Given the description of an element on the screen output the (x, y) to click on. 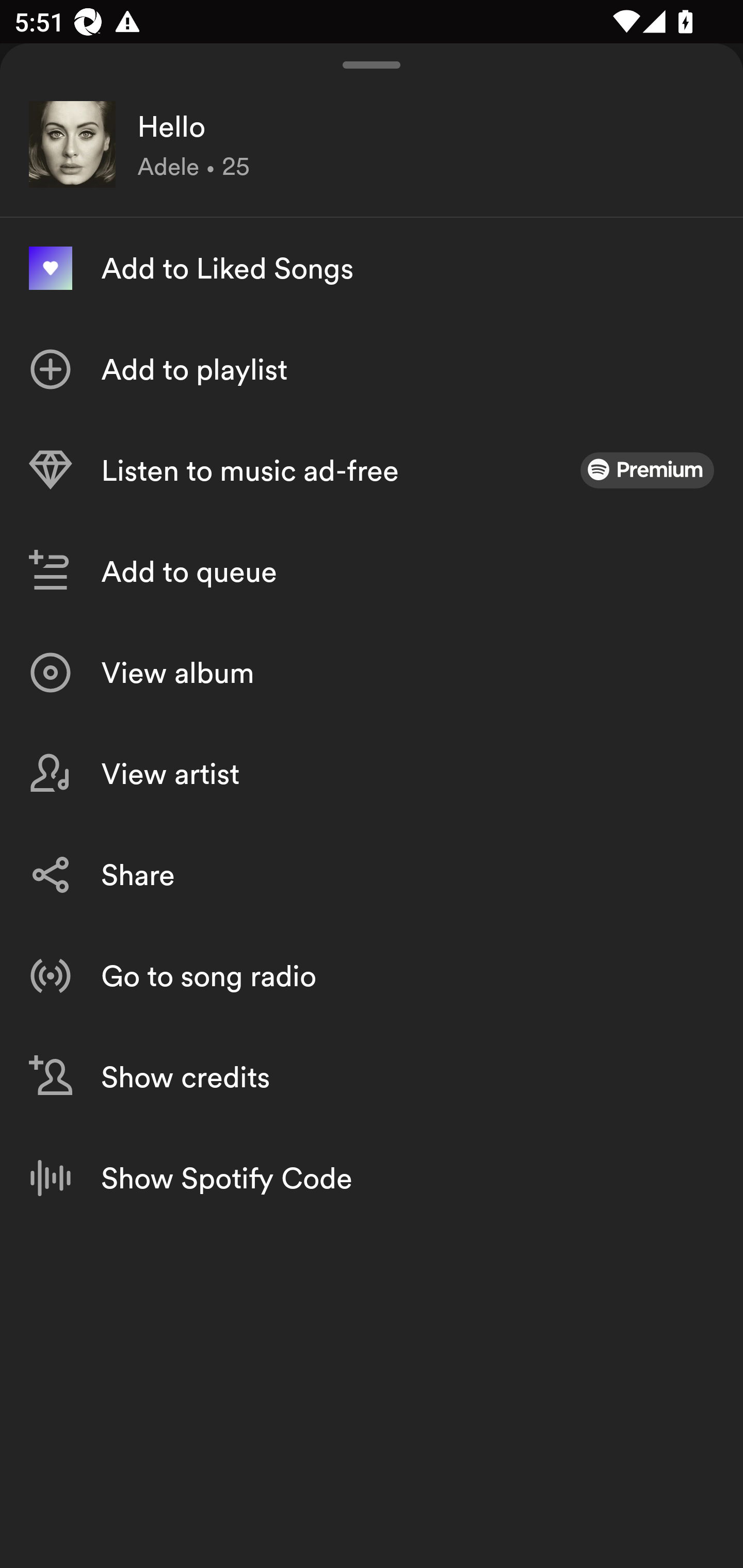
Add to Liked Songs (371, 267)
Add to playlist (371, 369)
Listen to music ad-free (371, 470)
Add to queue (371, 571)
View album (371, 672)
View artist (371, 773)
Share (371, 874)
Go to song radio (371, 976)
Show credits (371, 1077)
Show Spotify Code (371, 1178)
